Given the description of an element on the screen output the (x, y) to click on. 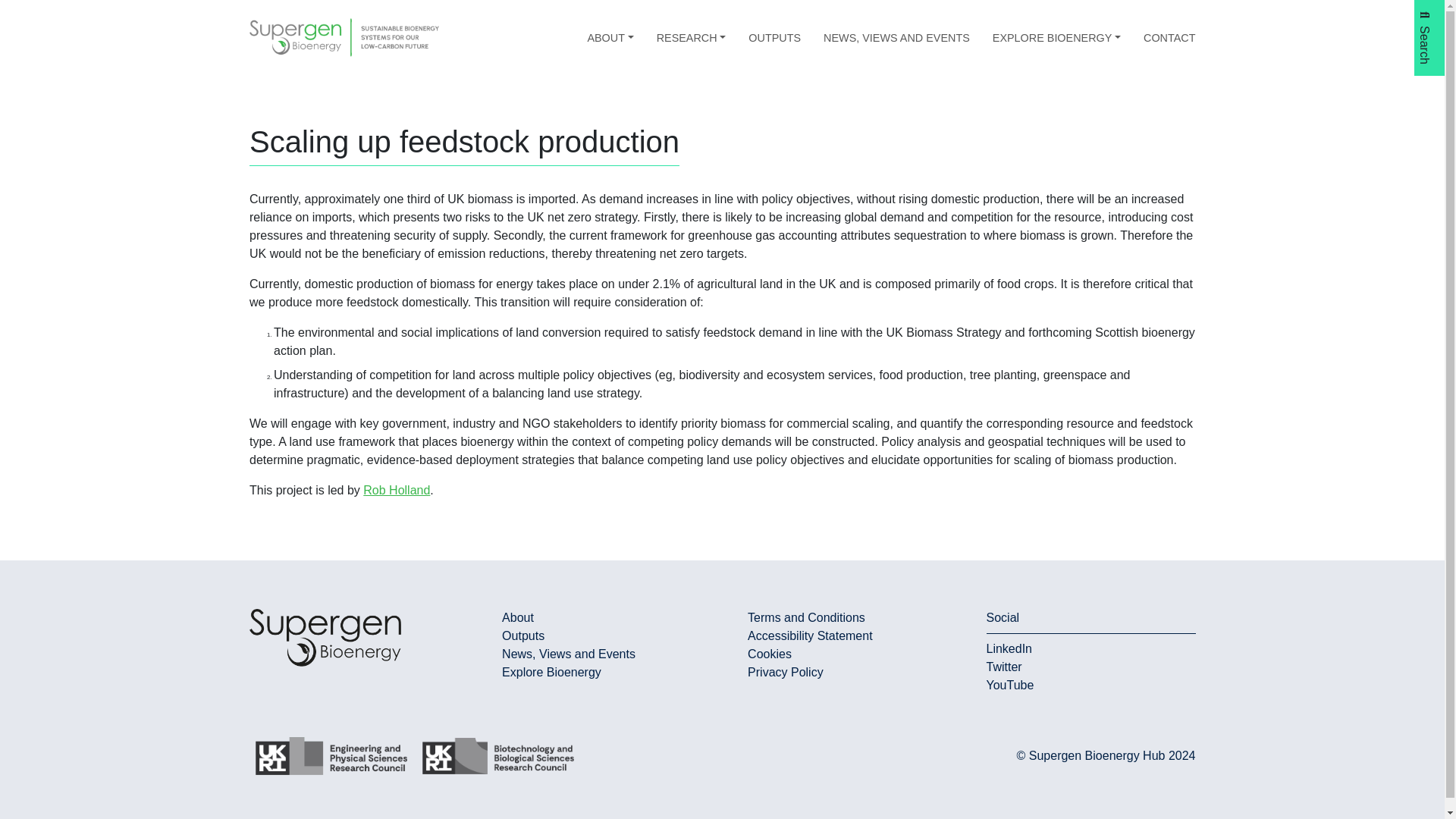
NEWS, VIEWS AND EVENTS (896, 37)
ABOUT (609, 37)
RESEARCH (691, 37)
CONTACT (1168, 37)
EXPLORE BIOENERGY (1056, 37)
OUTPUTS (774, 37)
